Given the description of an element on the screen output the (x, y) to click on. 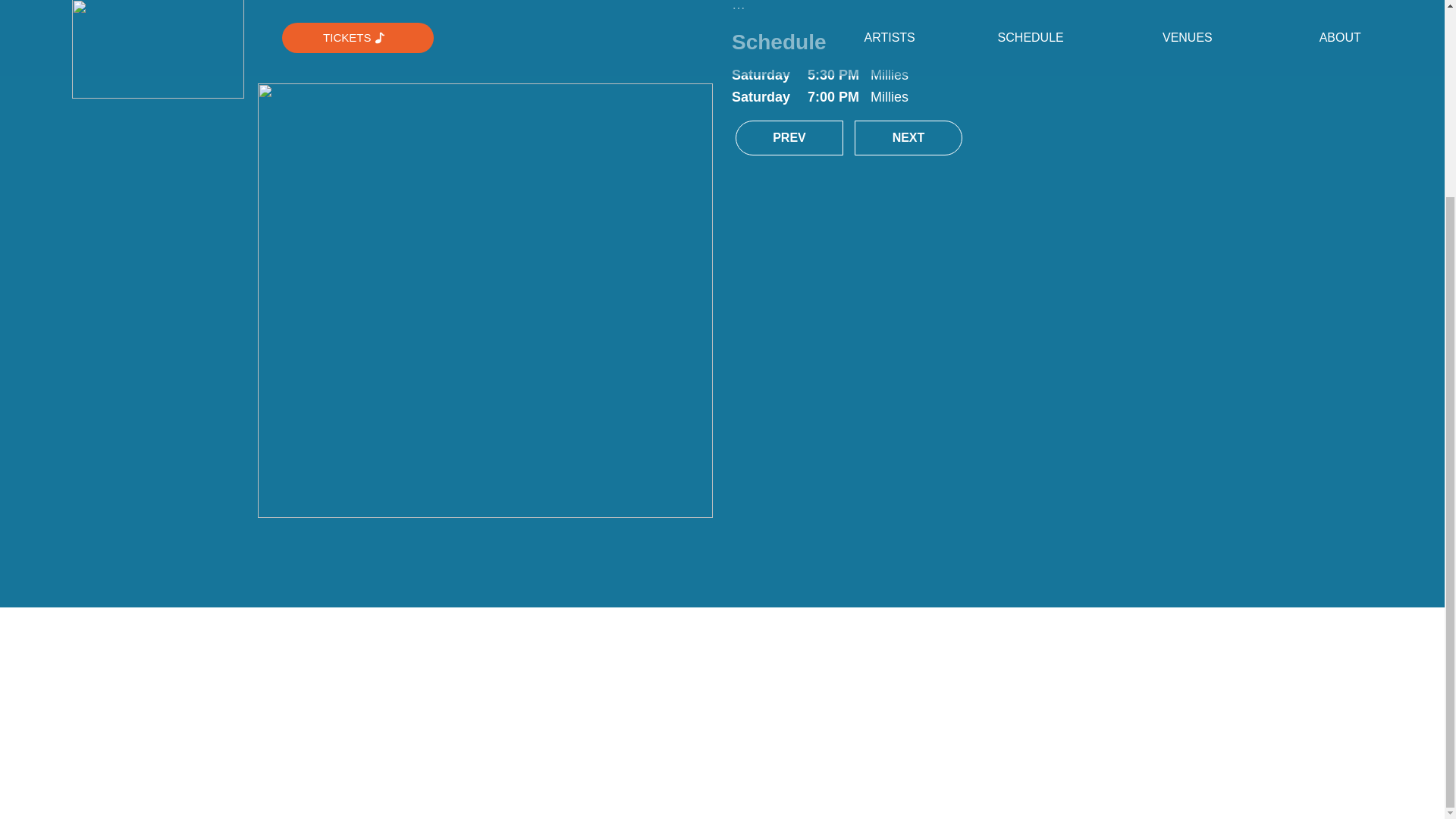
PREV (789, 137)
NEXT (908, 137)
